Given the description of an element on the screen output the (x, y) to click on. 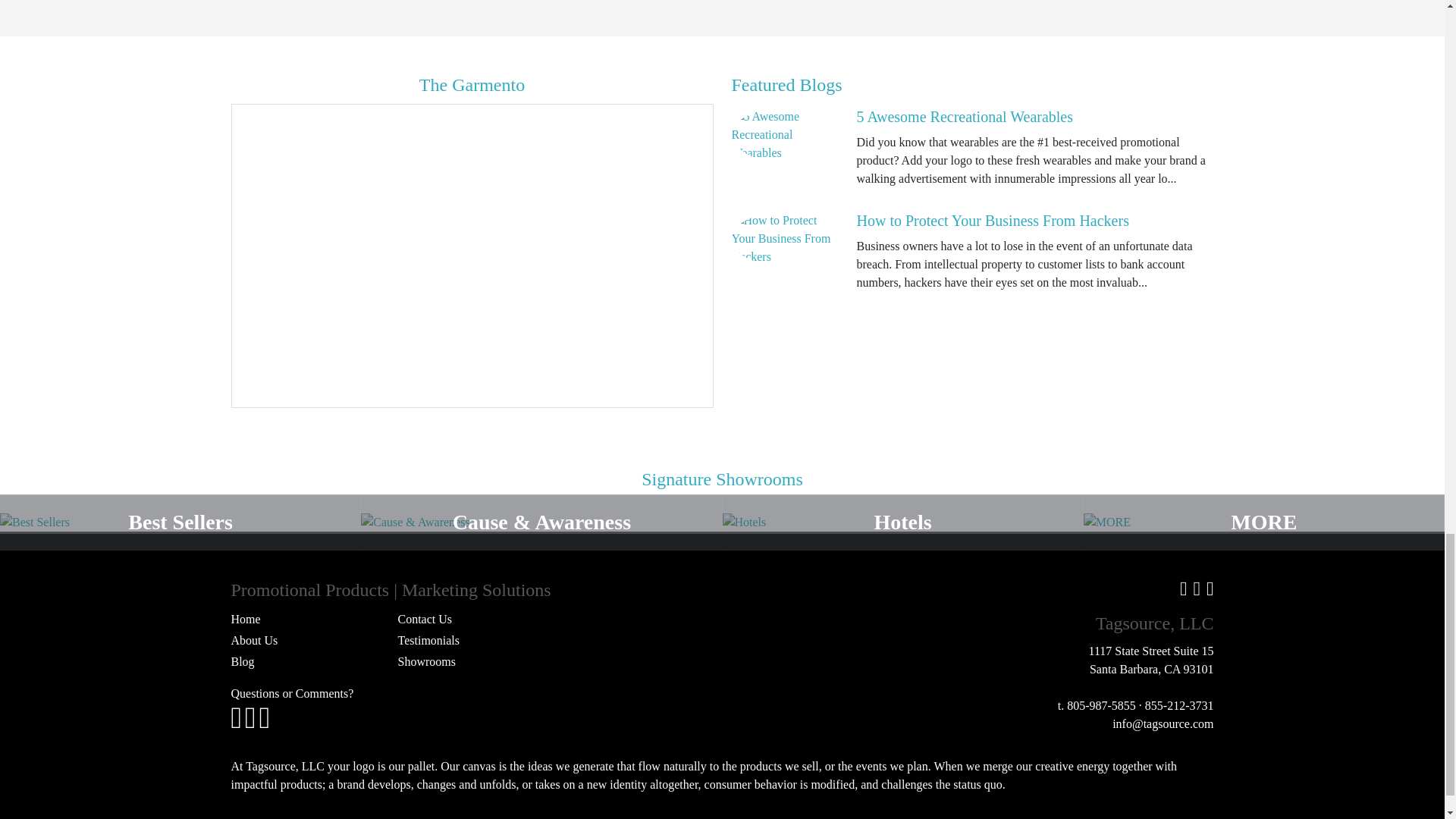
Best Sellers (180, 522)
Hotels (902, 522)
